Given the description of an element on the screen output the (x, y) to click on. 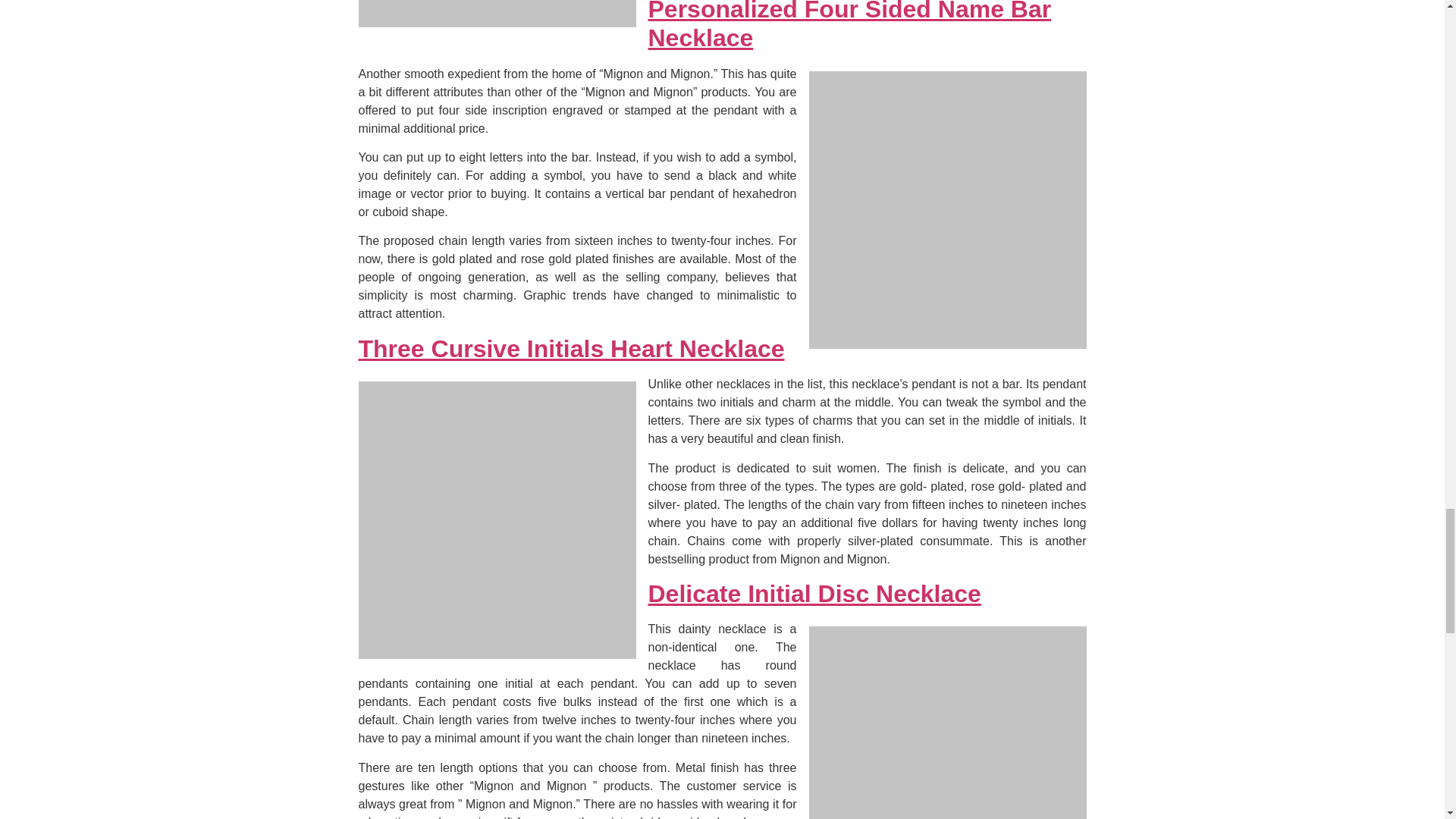
Delicate Initial Disc Necklace (813, 593)
Three Cursive Initials Heart Necklace (571, 348)
Personalized Four Sided Name Bar Necklace (849, 25)
